Given the description of an element on the screen output the (x, y) to click on. 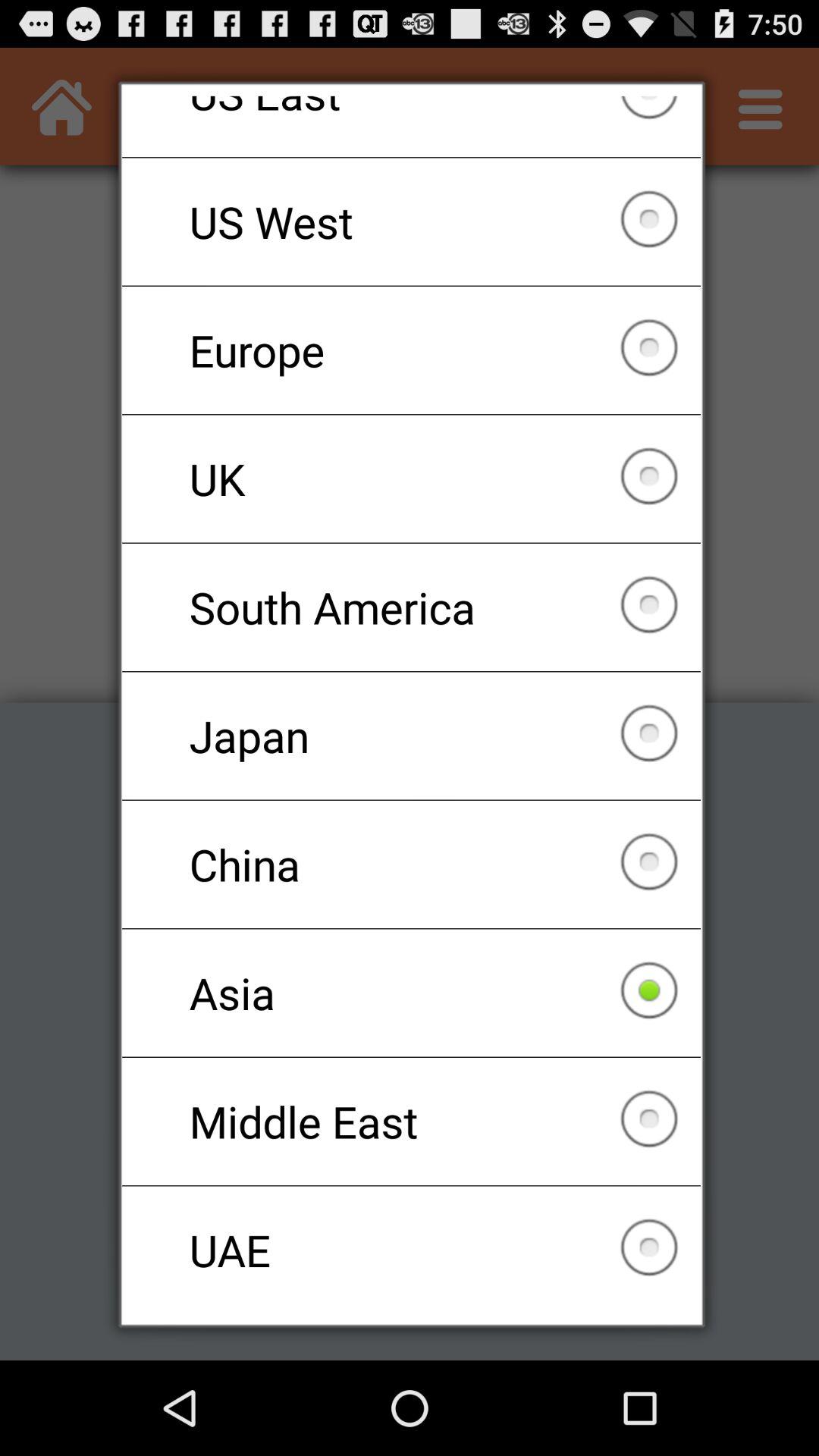
jump until the     us west checkbox (411, 221)
